Given the description of an element on the screen output the (x, y) to click on. 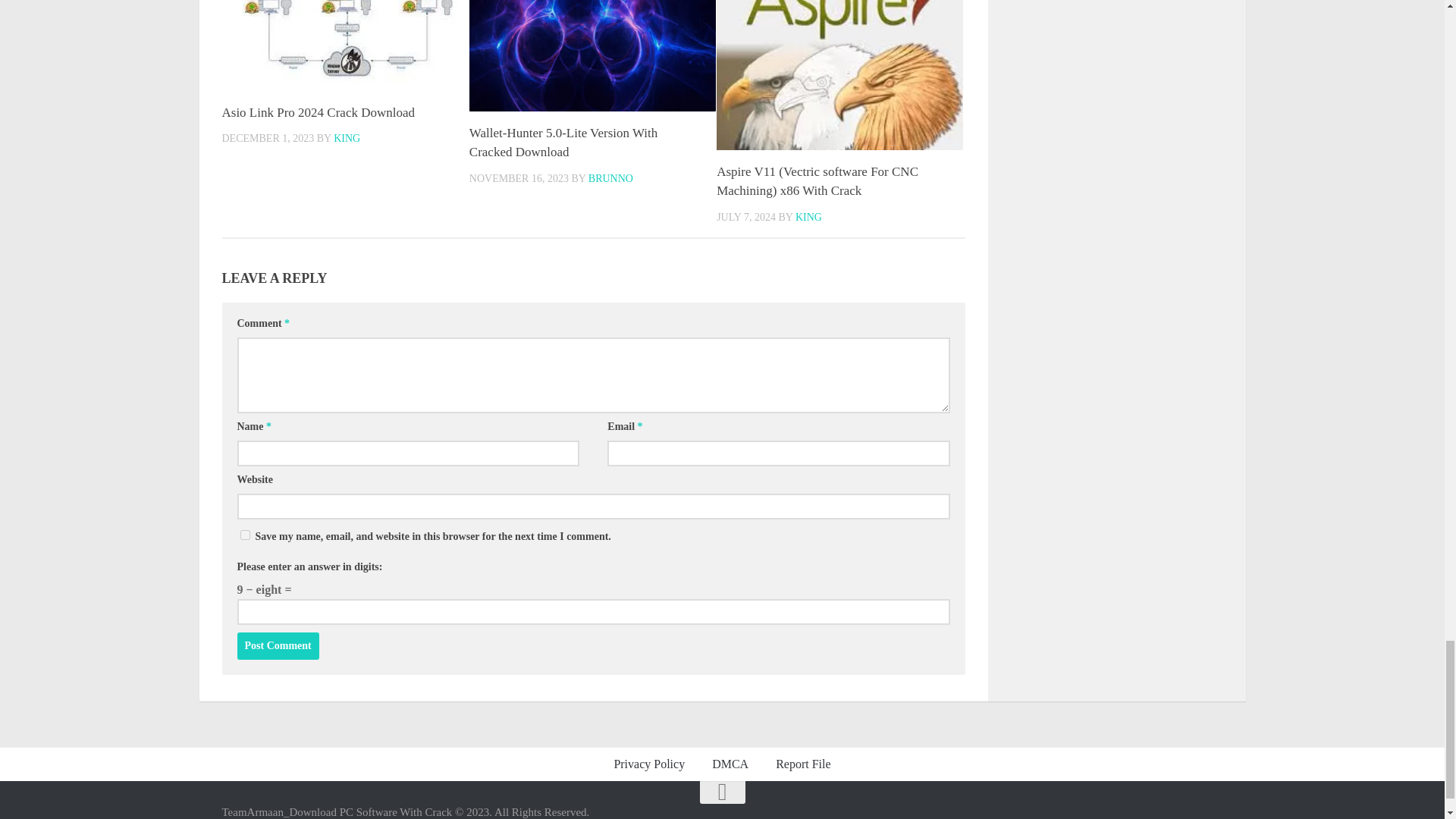
yes (244, 534)
Posts by King (346, 138)
Posts by King (808, 216)
Post Comment (276, 646)
Posts by Brunno (610, 178)
